Given the description of an element on the screen output the (x, y) to click on. 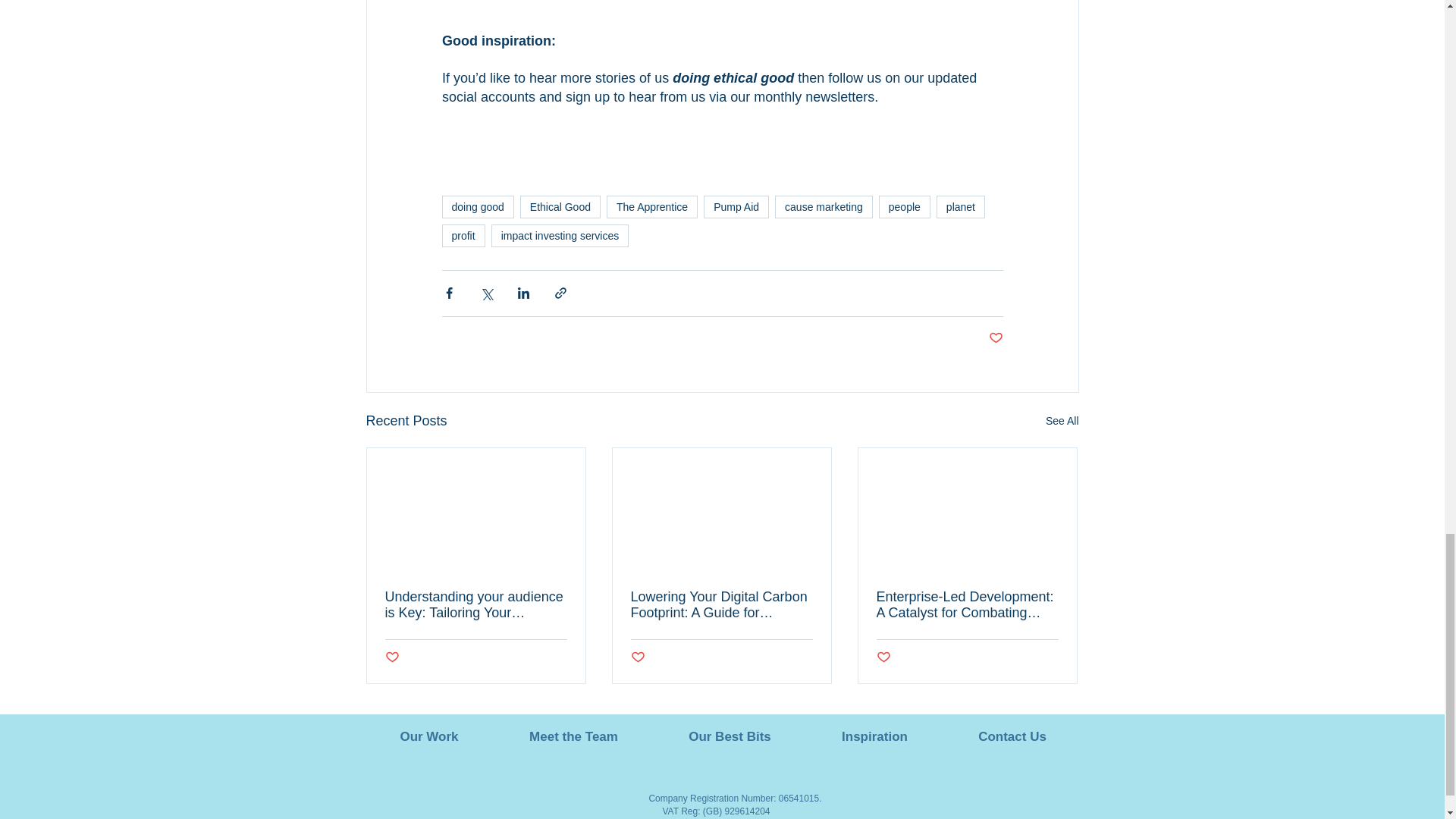
doing good (477, 206)
planet (960, 206)
impact investing services (560, 235)
Post not marked as liked (995, 338)
cause marketing (823, 206)
See All (1061, 421)
Pump Aid (735, 206)
profit (462, 235)
